Given the description of an element on the screen output the (x, y) to click on. 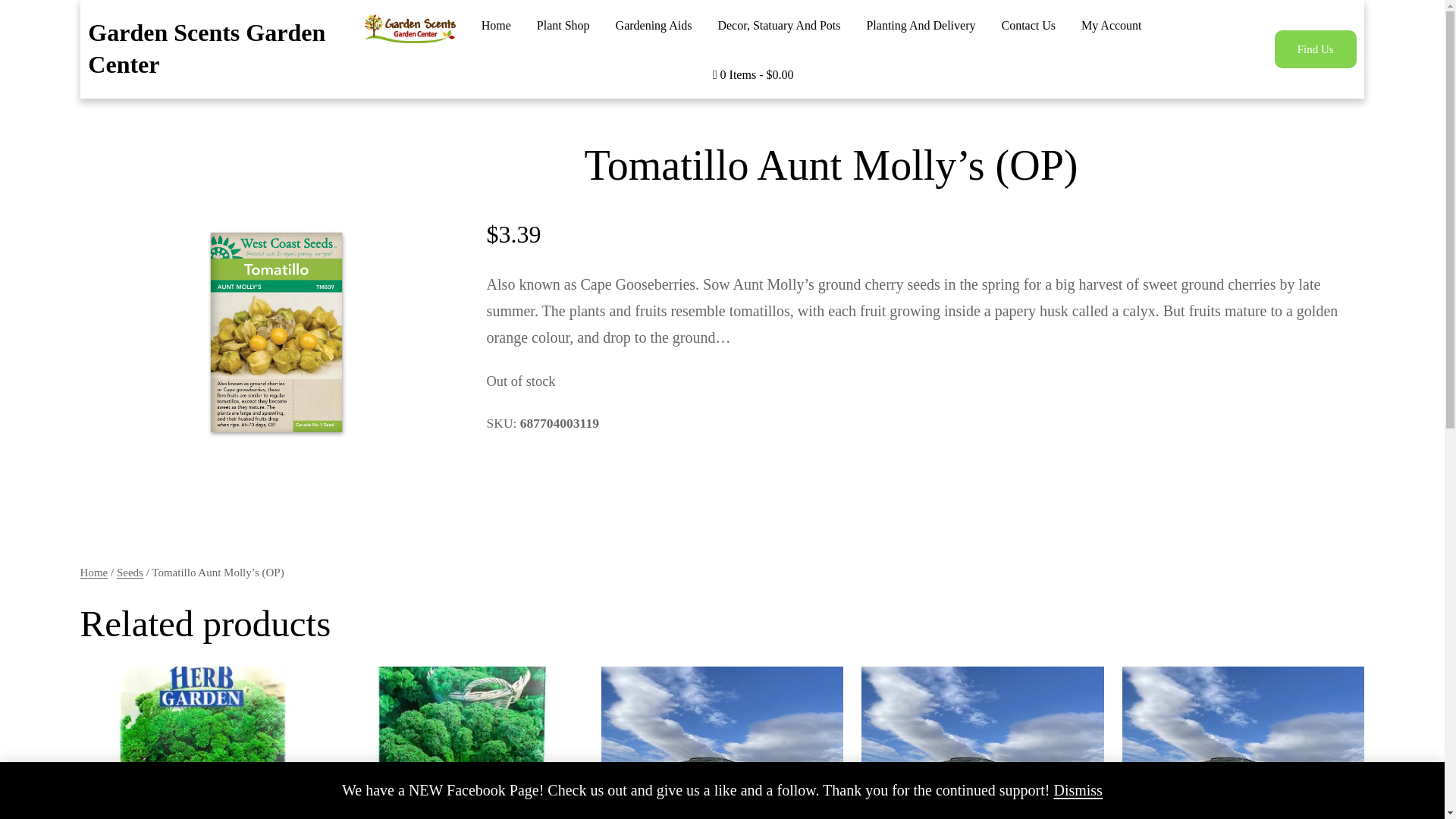
Garden Scents Garden Center (205, 47)
Seeds (129, 572)
Decor, Statuary And Pots (778, 25)
Home (93, 572)
Gardening Aids (654, 25)
Plant Shop (563, 25)
Contact Us (1028, 25)
Home (496, 25)
My Account (1111, 25)
Find Us (1315, 48)
Planting And Delivery (920, 25)
Start shopping (753, 74)
